Given the description of an element on the screen output the (x, y) to click on. 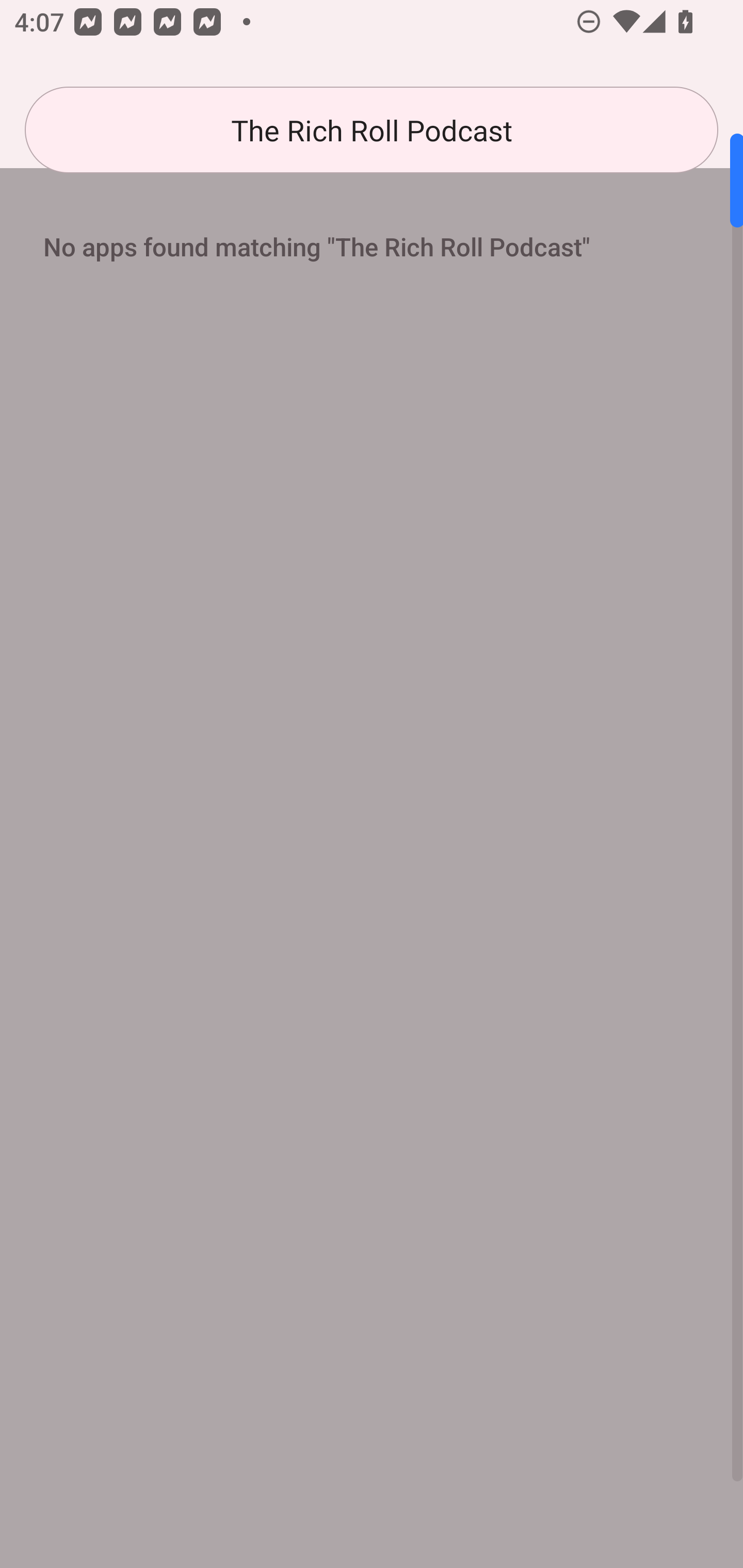
The Rich Roll Podcast (371, 130)
